Given the description of an element on the screen output the (x, y) to click on. 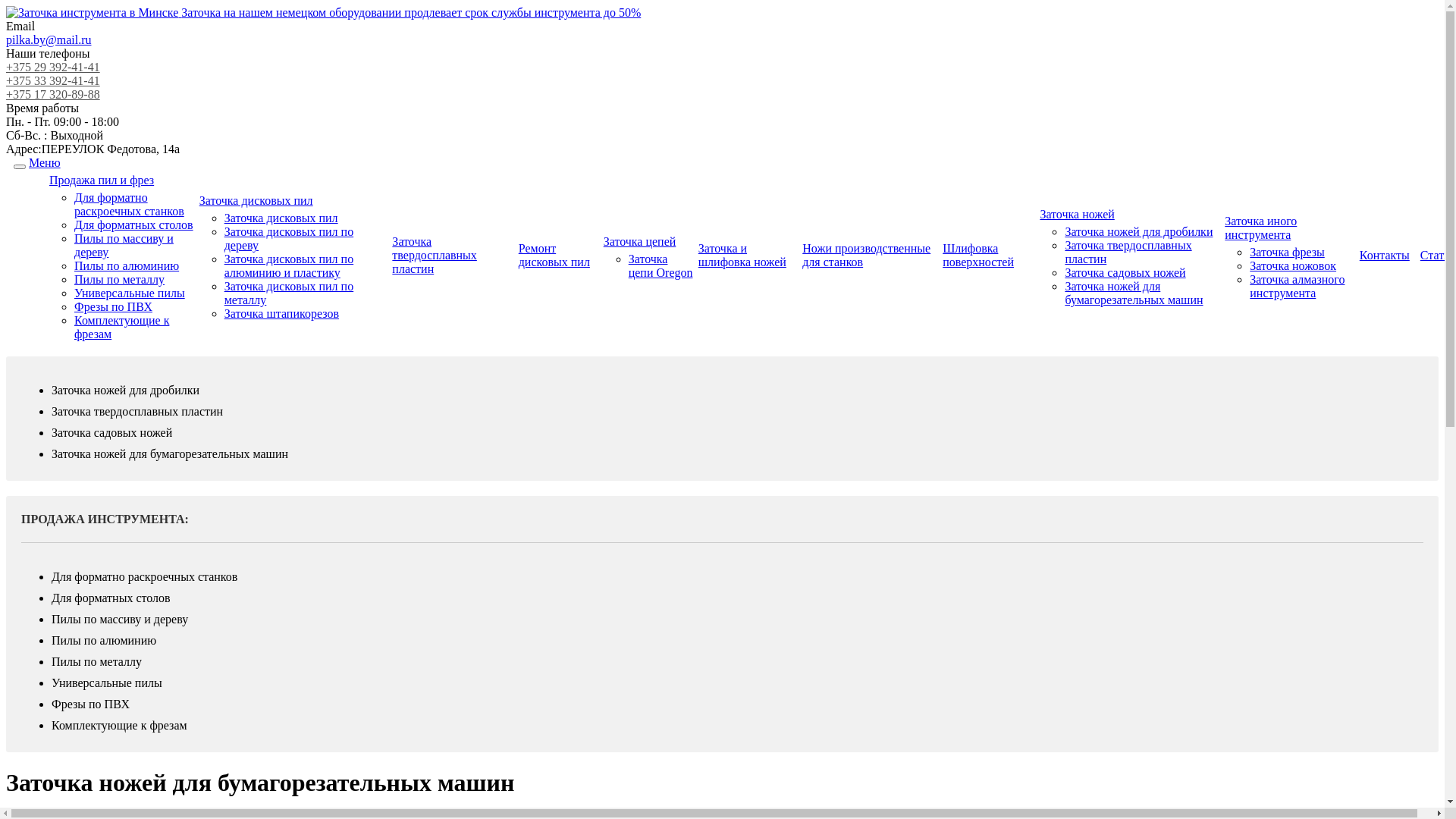
+375 33 392-41-41 Element type: text (722, 80)
pilka.by@mail.ru Element type: text (48, 39)
+375 17 320-89-88 Element type: text (722, 94)
+375 29 392-41-41 Element type: text (722, 67)
